Given the description of an element on the screen output the (x, y) to click on. 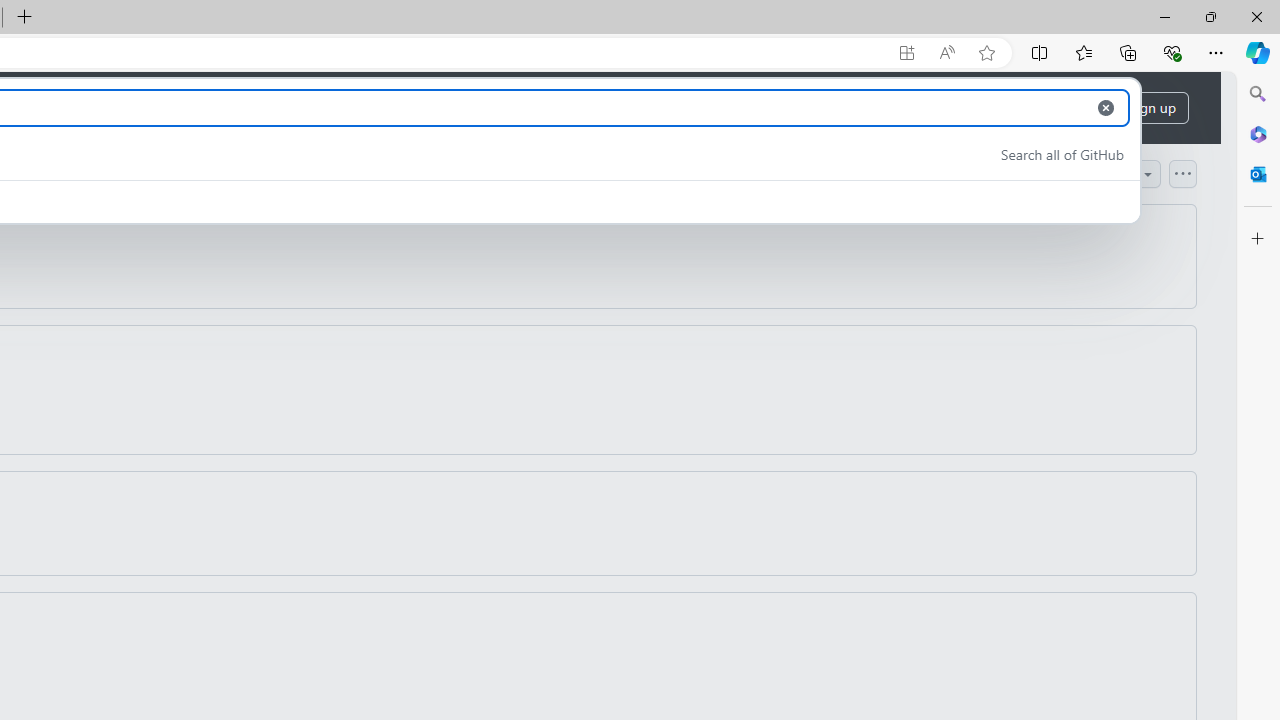
App available. Install GitHub (906, 53)
